Given the description of an element on the screen output the (x, y) to click on. 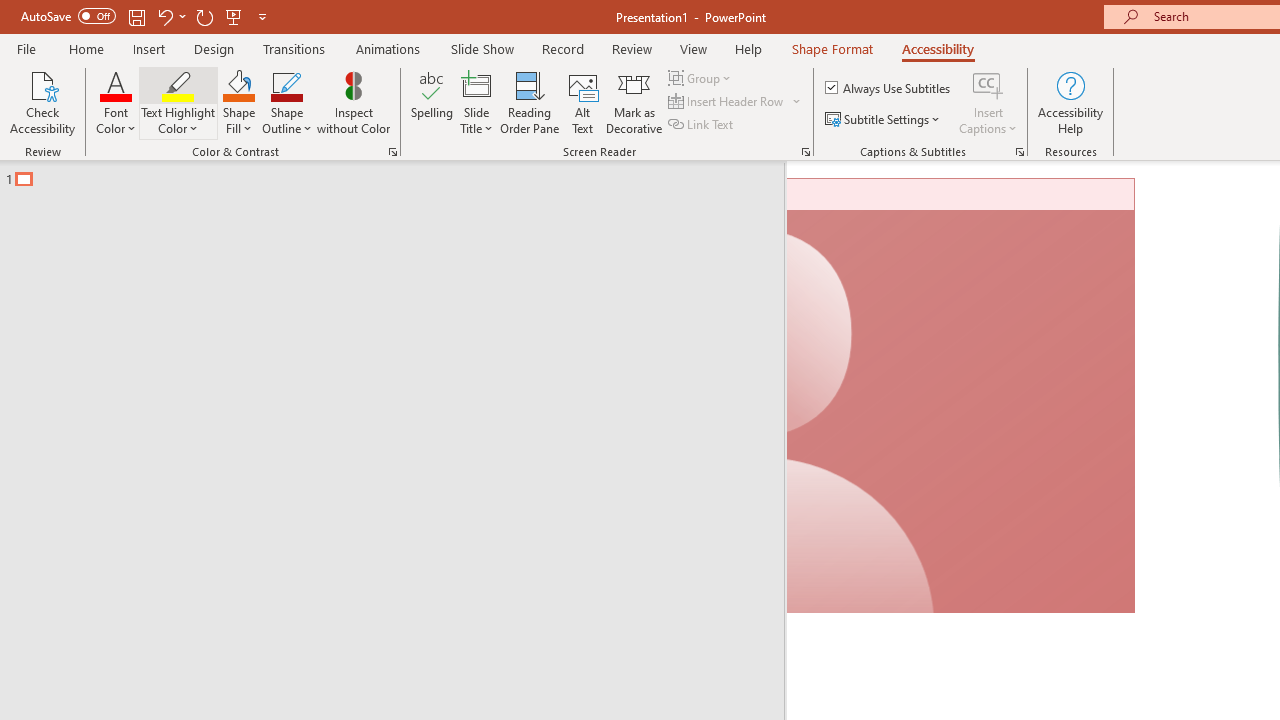
Reading Order Pane (529, 102)
Camera 7, No camera detected. (961, 395)
Color & Contrast (392, 151)
Link Text (702, 124)
